Given the description of an element on the screen output the (x, y) to click on. 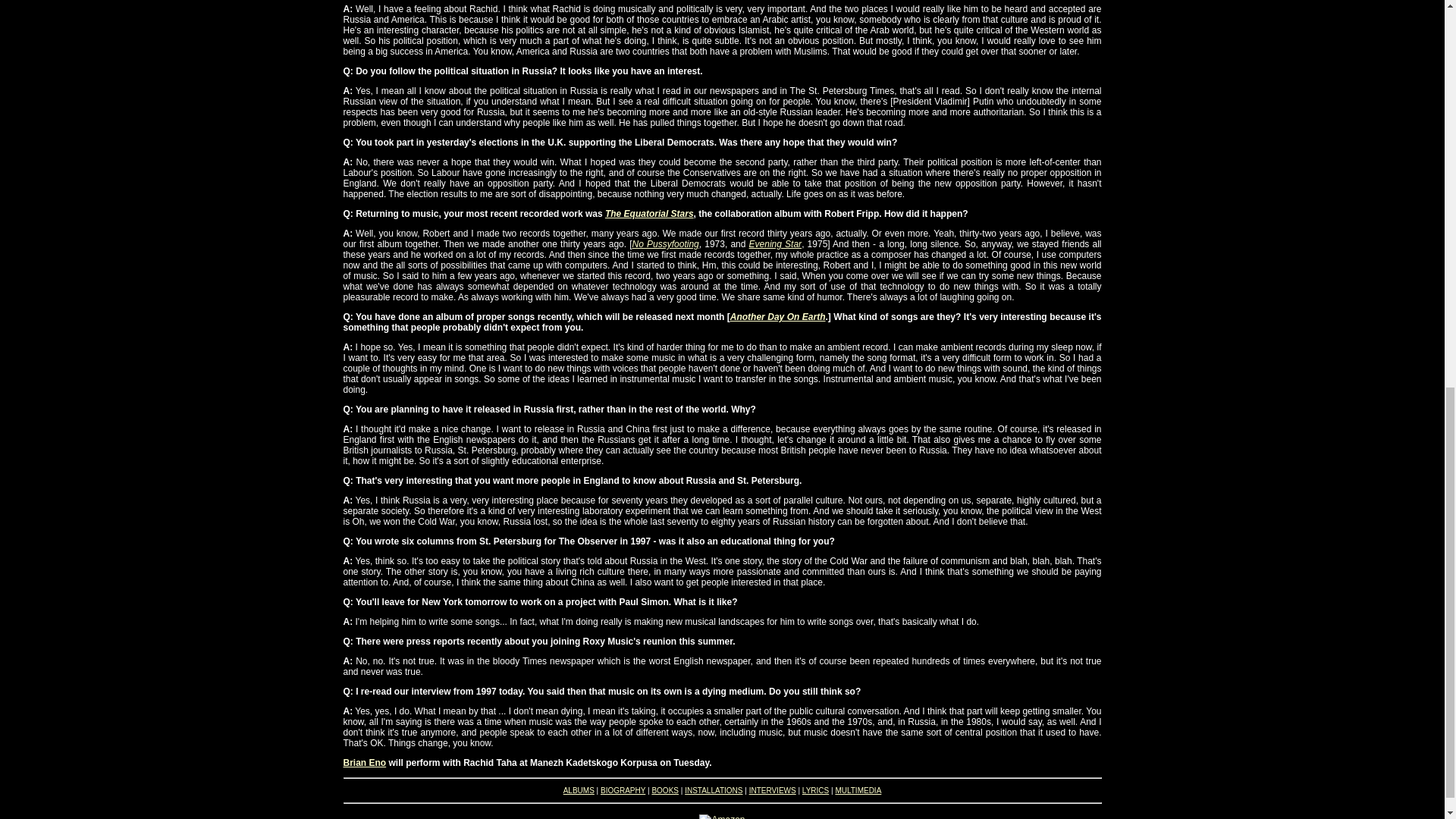
Brian Eno (363, 762)
INSTALLATIONS (713, 790)
Another Day On Earth (777, 317)
BOOKS (664, 790)
BIOGRAPHY (622, 790)
INTERVIEWS (772, 790)
LYRICS (815, 790)
ALBUMS (578, 790)
No Pussyfooting (664, 244)
The Equatorial Stars (649, 213)
